Given the description of an element on the screen output the (x, y) to click on. 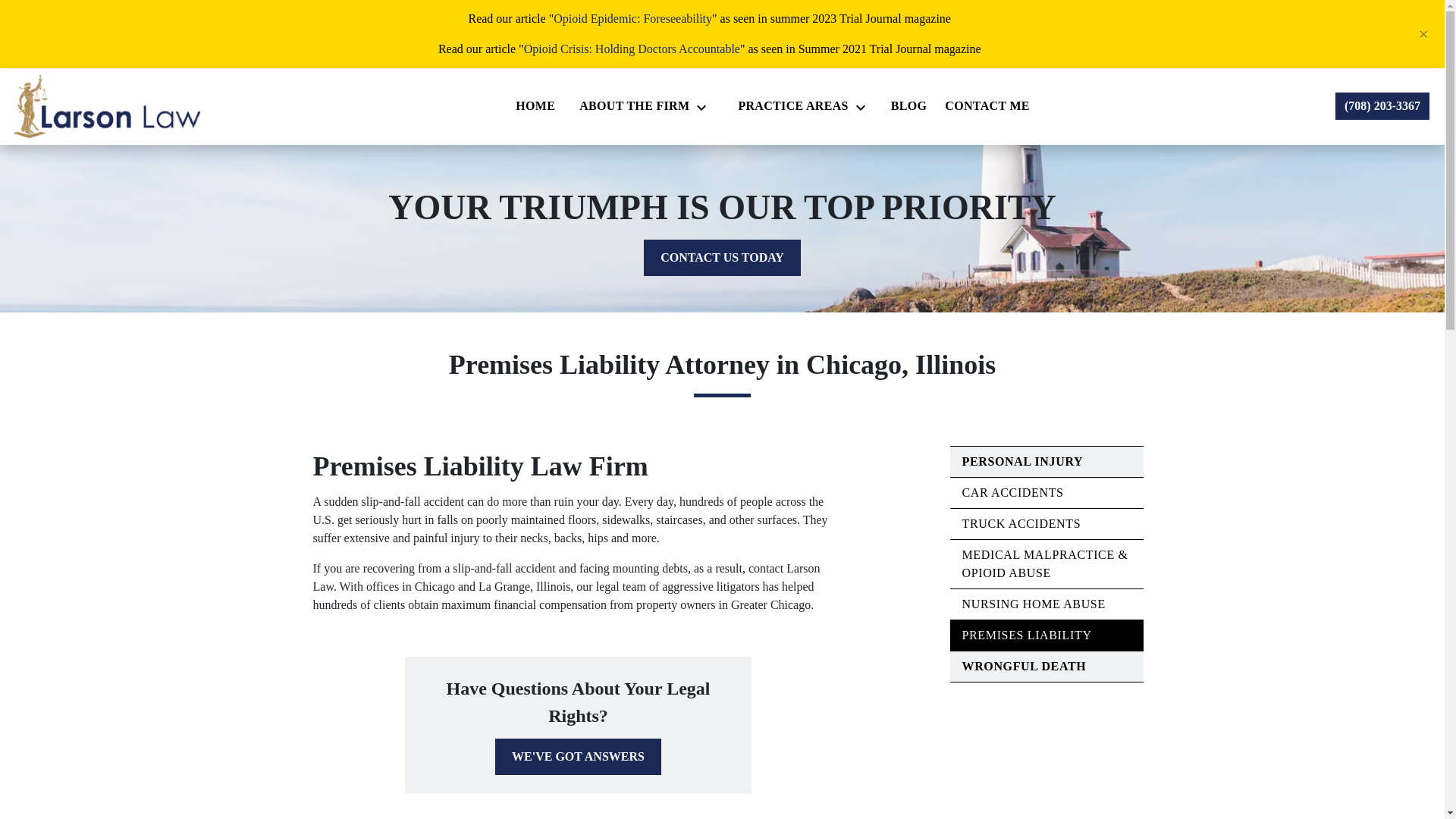
WRONGFUL DEATH (1023, 666)
PERSONAL INJURY (1021, 461)
Opioid Epidemic: Foreseeability (632, 18)
Opioid Crisis: Holding Doctors Accountable (631, 48)
TRUCK ACCIDENTS (1020, 522)
CAR ACCIDENTS (1011, 492)
CONTACT ME (987, 105)
PRACTICE AREAS (789, 105)
NURSING HOME ABUSE (1032, 603)
CONTACT US TODAY (721, 257)
